Given the description of an element on the screen output the (x, y) to click on. 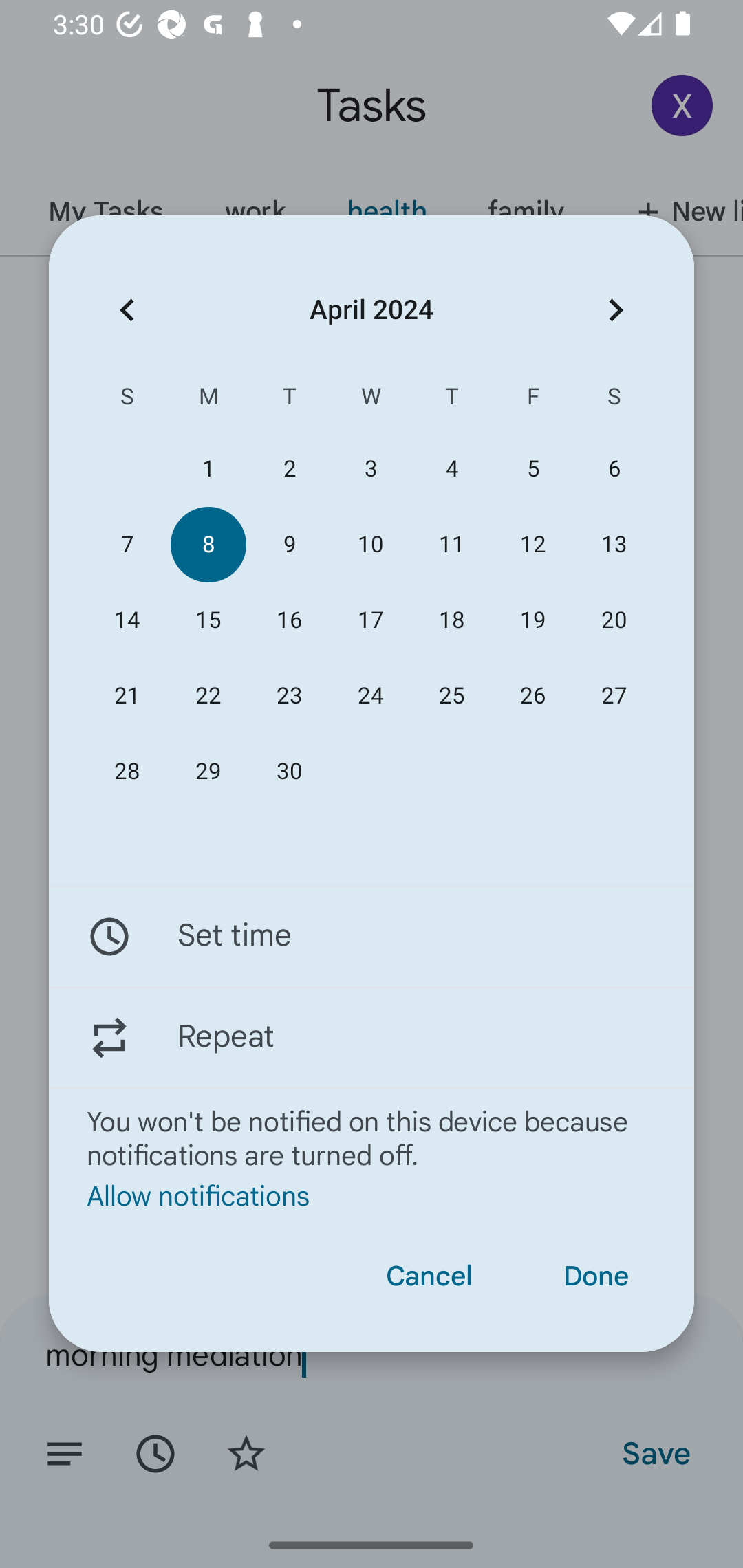
Previous month (126, 309)
Next month (615, 309)
1 01 April 2024 (207, 468)
2 02 April 2024 (288, 468)
3 03 April 2024 (370, 468)
4 04 April 2024 (451, 468)
5 05 April 2024 (532, 468)
6 06 April 2024 (613, 468)
7 07 April 2024 (126, 543)
8 08 April 2024 (207, 543)
9 09 April 2024 (288, 543)
10 10 April 2024 (370, 543)
11 11 April 2024 (451, 543)
12 12 April 2024 (532, 543)
13 13 April 2024 (613, 543)
14 14 April 2024 (126, 619)
15 15 April 2024 (207, 619)
16 16 April 2024 (288, 619)
17 17 April 2024 (370, 619)
18 18 April 2024 (451, 619)
19 19 April 2024 (532, 619)
20 20 April 2024 (613, 619)
21 21 April 2024 (126, 695)
22 22 April 2024 (207, 695)
23 23 April 2024 (288, 695)
24 24 April 2024 (370, 695)
25 25 April 2024 (451, 695)
26 26 April 2024 (532, 695)
27 27 April 2024 (613, 695)
28 28 April 2024 (126, 771)
29 29 April 2024 (207, 771)
30 30 April 2024 (288, 771)
Set time (371, 936)
Repeat (371, 1036)
Allow notifications (371, 1195)
Cancel (429, 1275)
Done (595, 1275)
